Given the description of an element on the screen output the (x, y) to click on. 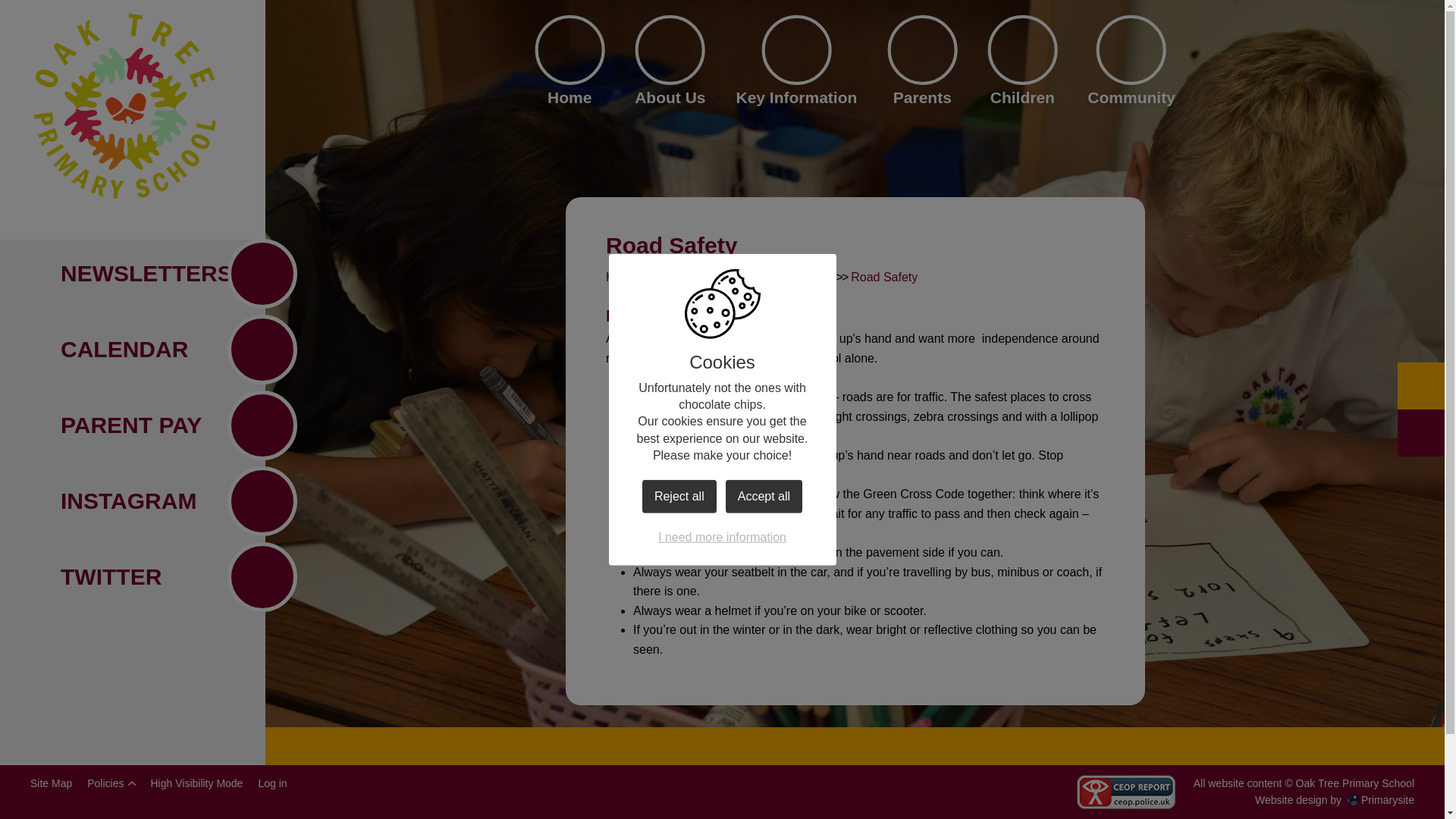
Home Page (124, 106)
